Given the description of an element on the screen output the (x, y) to click on. 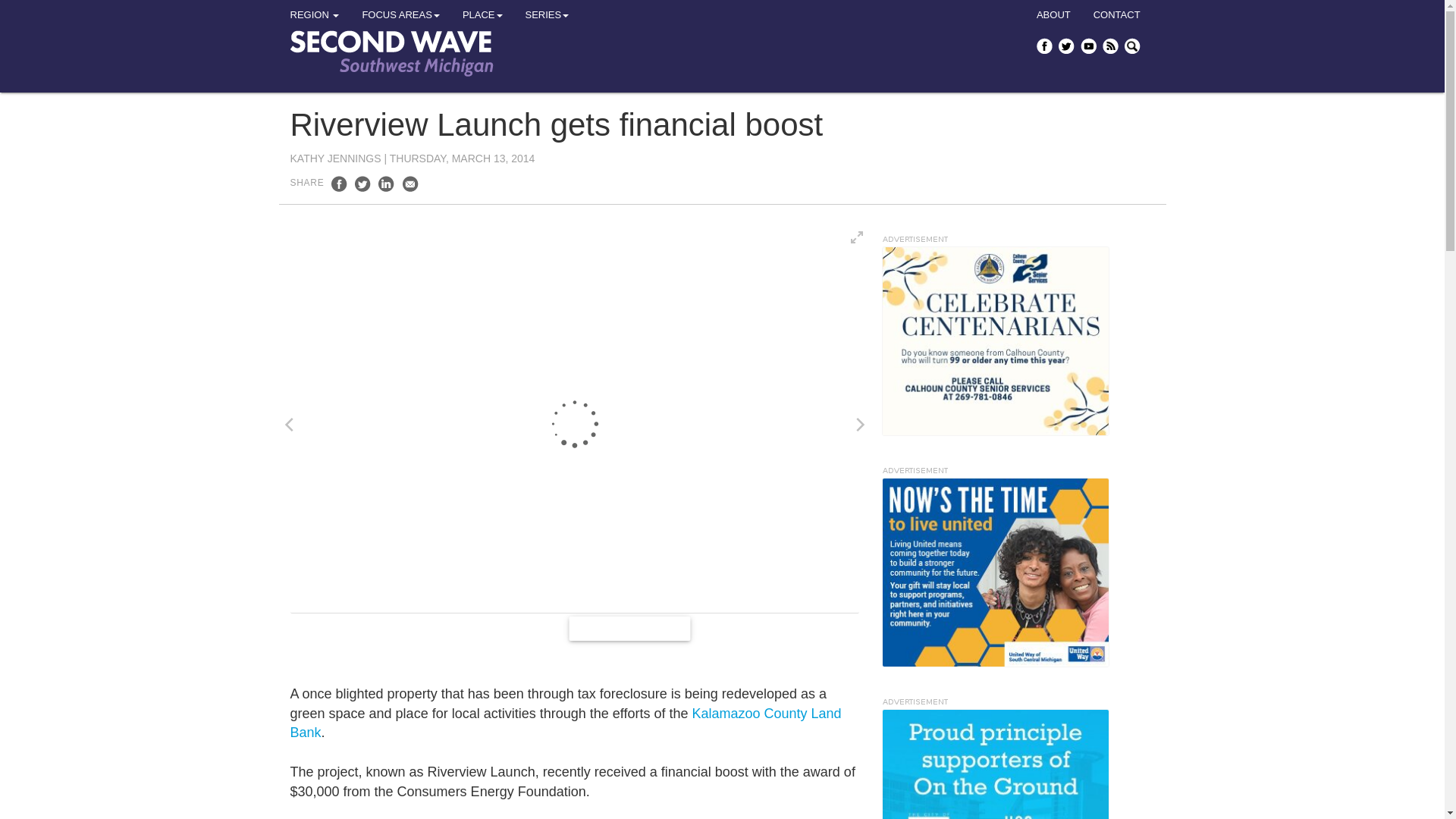
Celebrate Centenarians (994, 340)
Subscribe to the Southwest Michigan Second Wave RSS feed! (1111, 45)
View full-screen (856, 237)
PLACE (482, 15)
REGION (314, 15)
FOCUS AREAS (399, 15)
Michigan LISC (994, 764)
